Given the description of an element on the screen output the (x, y) to click on. 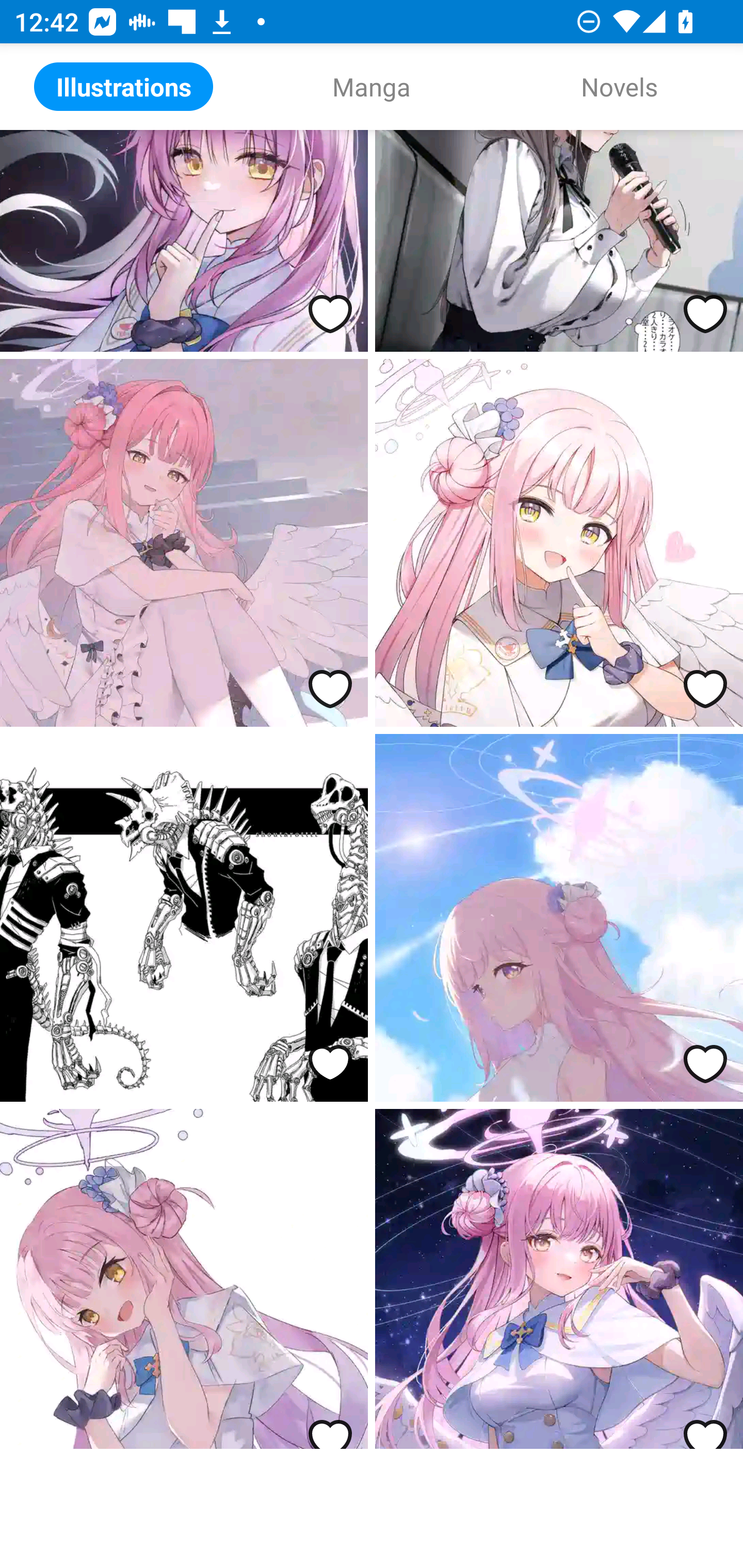
Illustrations (123, 86)
Manga (371, 86)
Novels (619, 86)
